Given the description of an element on the screen output the (x, y) to click on. 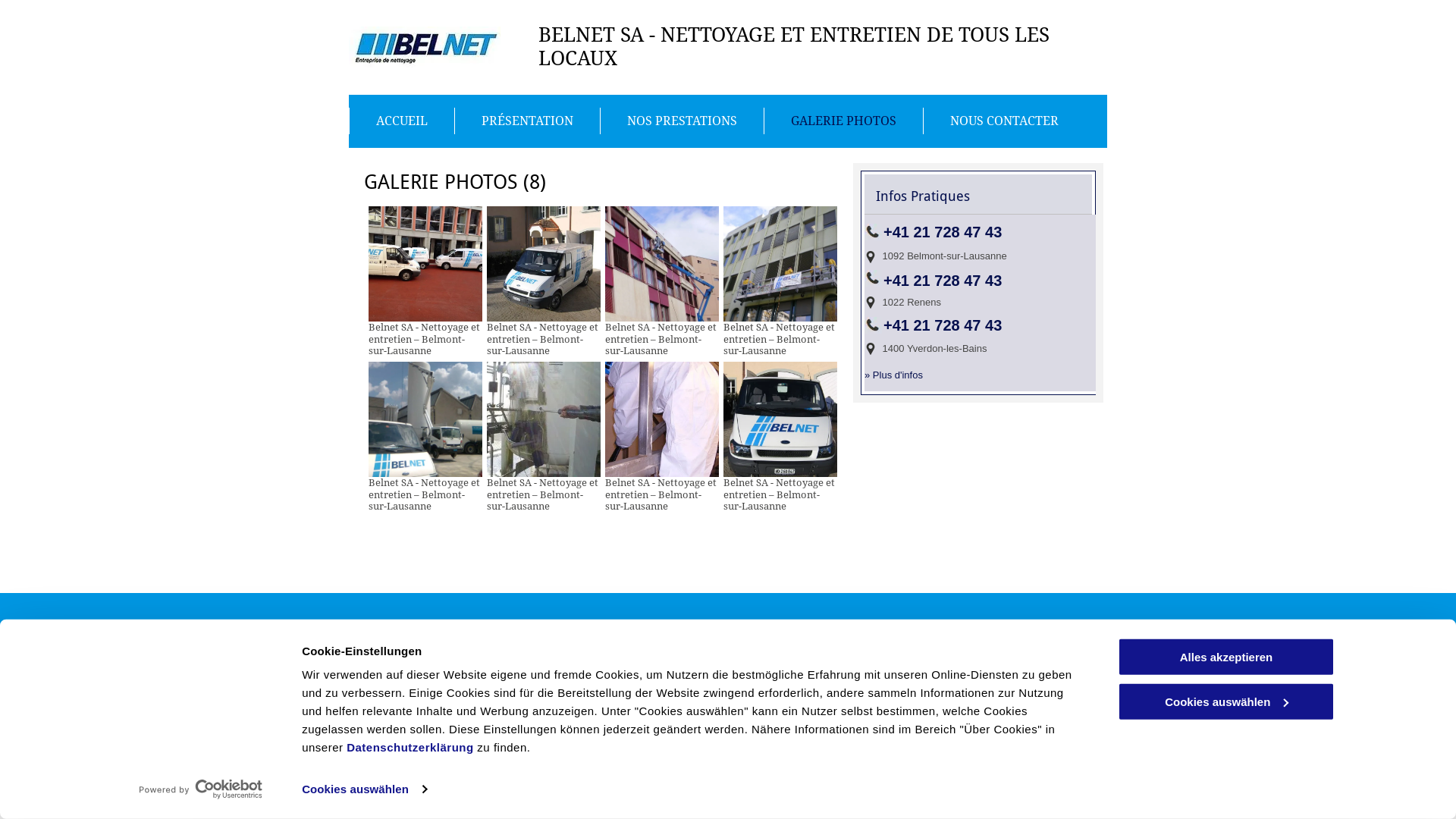
+41 21 728 47 43 Element type: text (942, 280)
- NETTOYAGE ET ENTRETIEN DE TOUS LES LOCAUX Element type: text (793, 46)
BELNET SA Element type: text (590, 34)
GALERIE PHOTOS Element type: text (843, 120)
fb:like Facebook Social Plugin Element type: hover (331, 666)
ACCUEIL Element type: text (401, 120)
+41 21 728 47 43 Element type: text (942, 231)
+41 21 728 47 43 Element type: text (701, 709)
+41 Element type: text (896, 324)
NOUS CONTACTER Element type: text (1004, 120)
Alles akzeptieren Element type: text (1225, 656)
NOS PRESTATIONS Element type: text (681, 120)
